Given the description of an element on the screen output the (x, y) to click on. 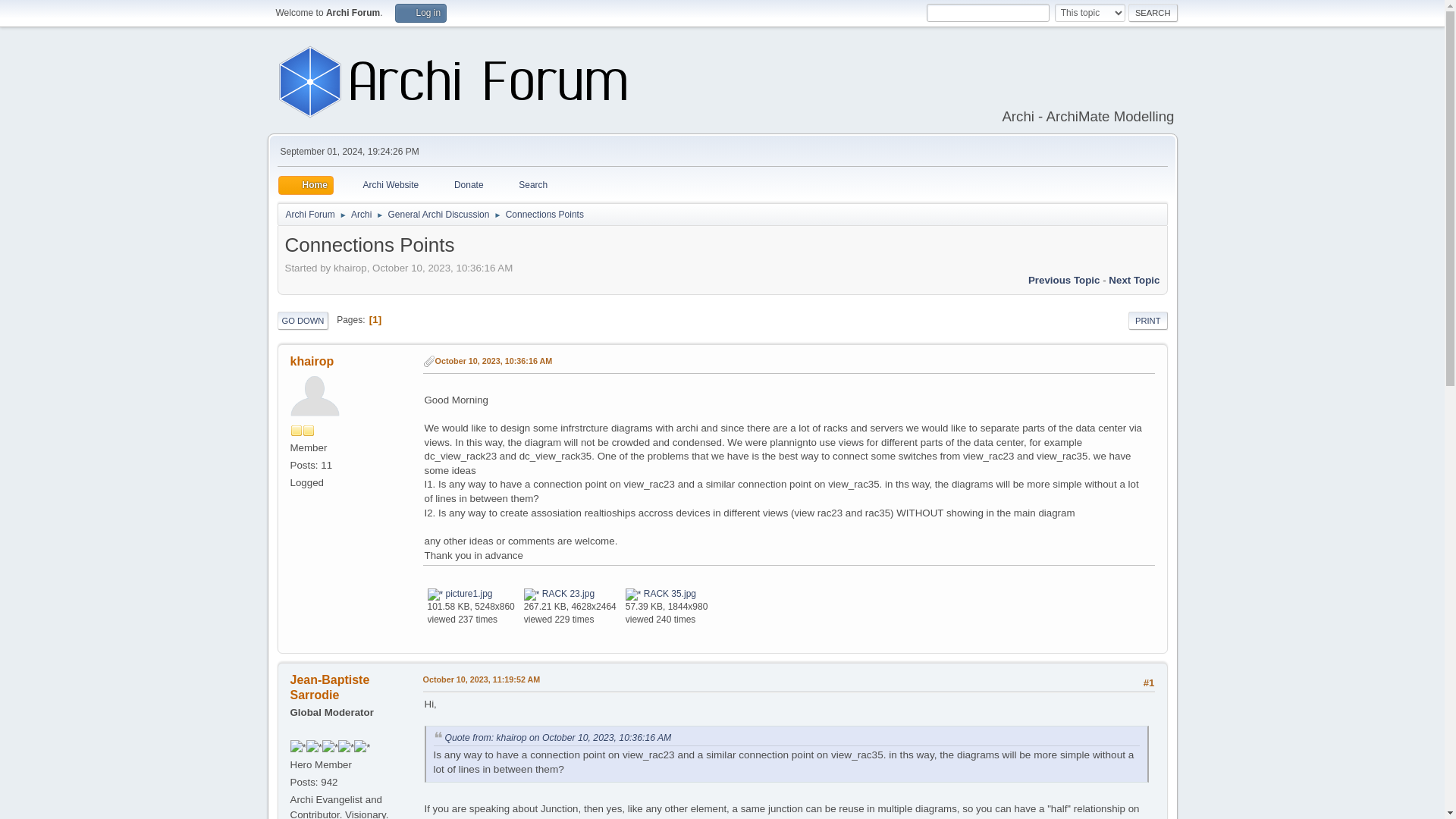
Connections Points (544, 211)
 RACK 23.jpg (559, 593)
Next Topic (1133, 279)
PRINT (1147, 321)
October 10, 2023, 11:19:52 AM (481, 680)
Search (524, 185)
Log in (420, 13)
Search (1152, 13)
Archi Forum (309, 211)
Quote from: khairop on October 10, 2023, 10:36:16 AM (557, 737)
